Given the description of an element on the screen output the (x, y) to click on. 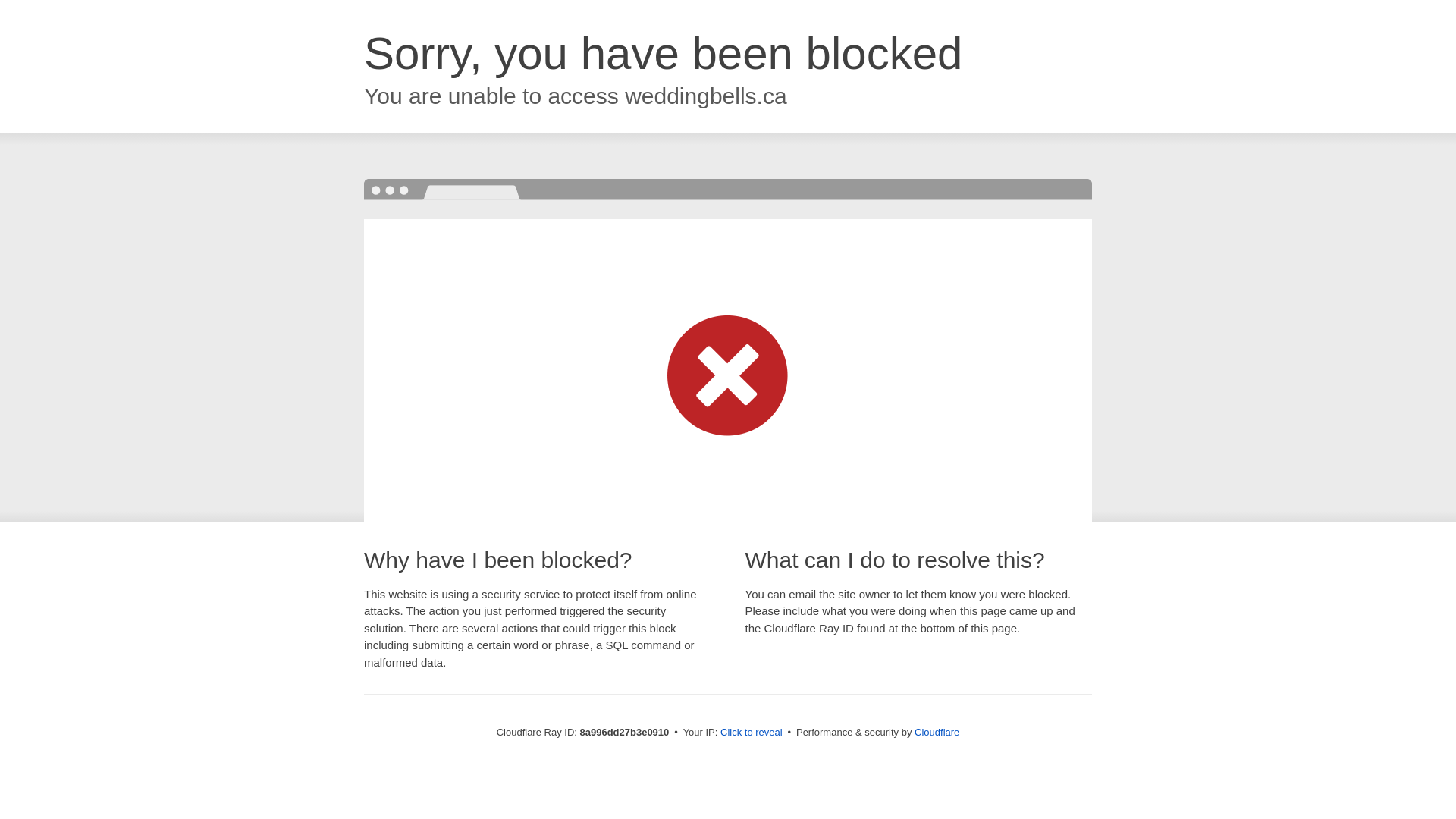
Cloudflare (936, 731)
Click to reveal (751, 732)
